Given the description of an element on the screen output the (x, y) to click on. 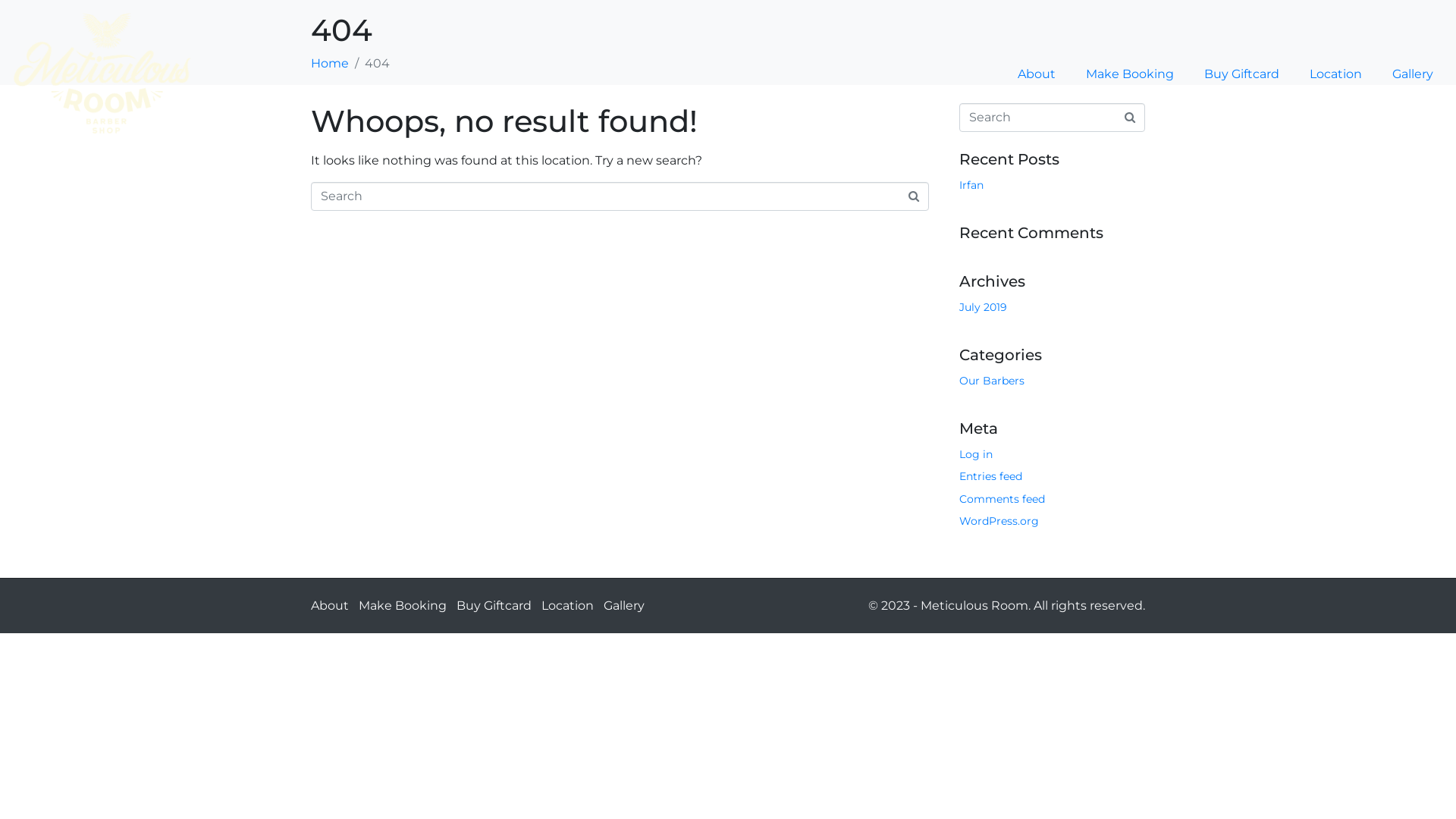
Buy Giftcard Element type: text (1241, 73)
July 2019 Element type: text (983, 306)
Log in Element type: text (975, 454)
Gallery Element type: text (1412, 73)
Make Booking Element type: text (402, 605)
Entries feed Element type: text (990, 476)
Gallery Element type: text (623, 605)
Irfan Element type: text (971, 184)
Home Element type: text (329, 63)
About Element type: text (1036, 73)
Make Booking Element type: text (1129, 73)
Location Element type: text (567, 605)
Comments feed Element type: text (1001, 498)
Buy Giftcard Element type: text (493, 605)
Our Barbers Element type: text (991, 380)
WordPress.org Element type: text (998, 520)
About Element type: text (329, 605)
Location Element type: text (1335, 73)
